Given the description of an element on the screen output the (x, y) to click on. 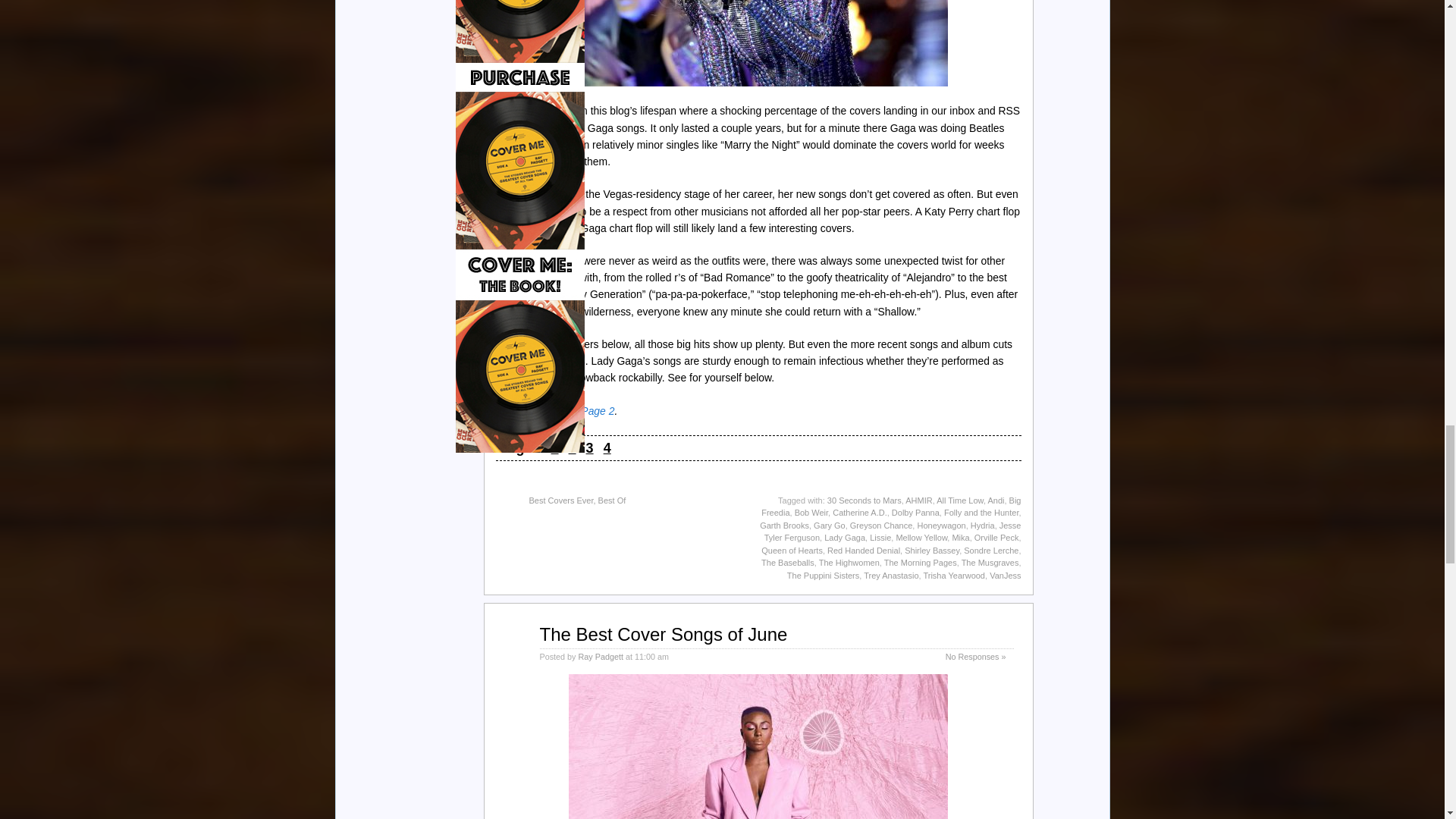
The Best Cover Songs of June (663, 634)
